Given the description of an element on the screen output the (x, y) to click on. 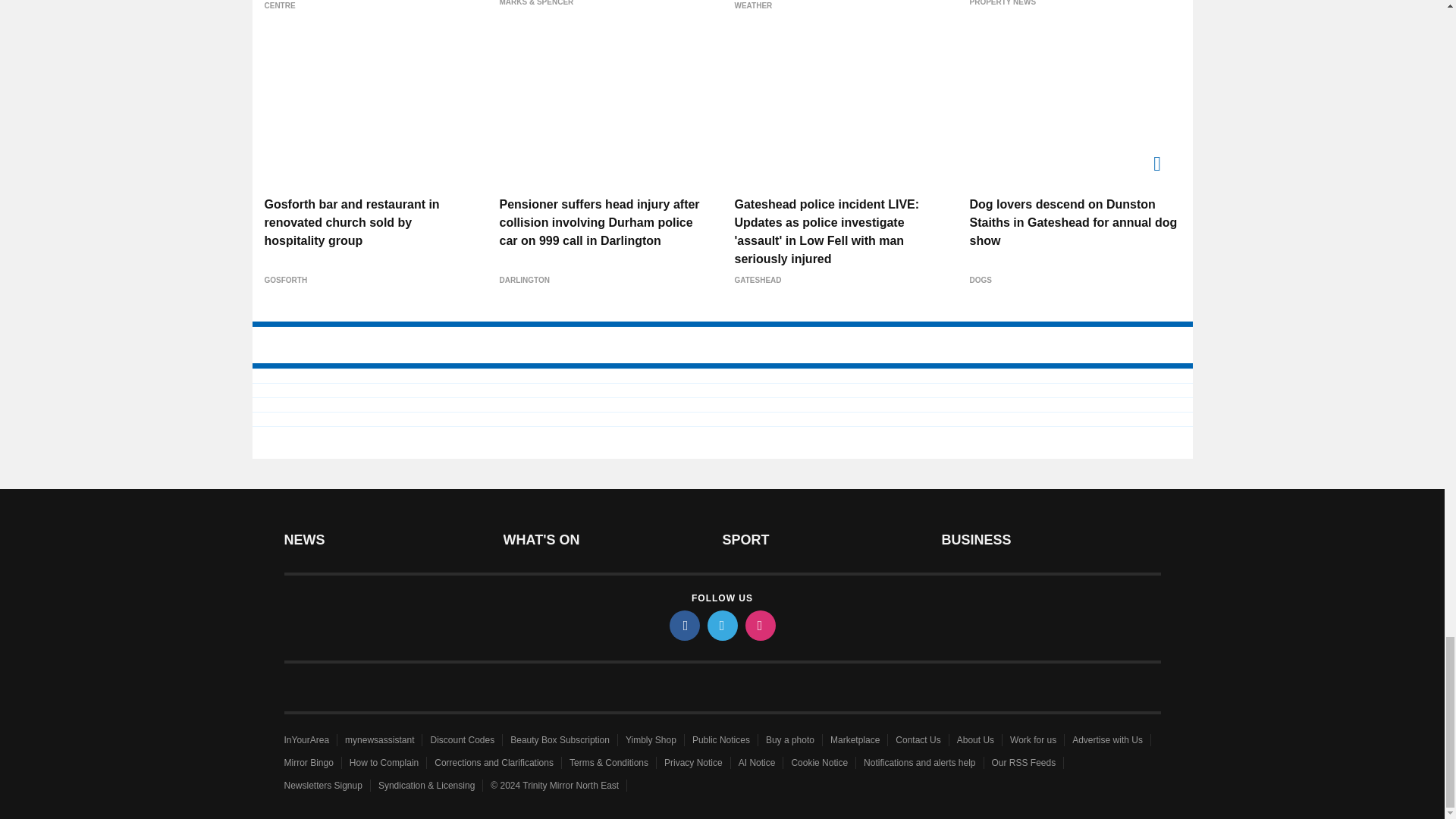
facebook (683, 625)
instagram (759, 625)
twitter (721, 625)
